Given the description of an element on the screen output the (x, y) to click on. 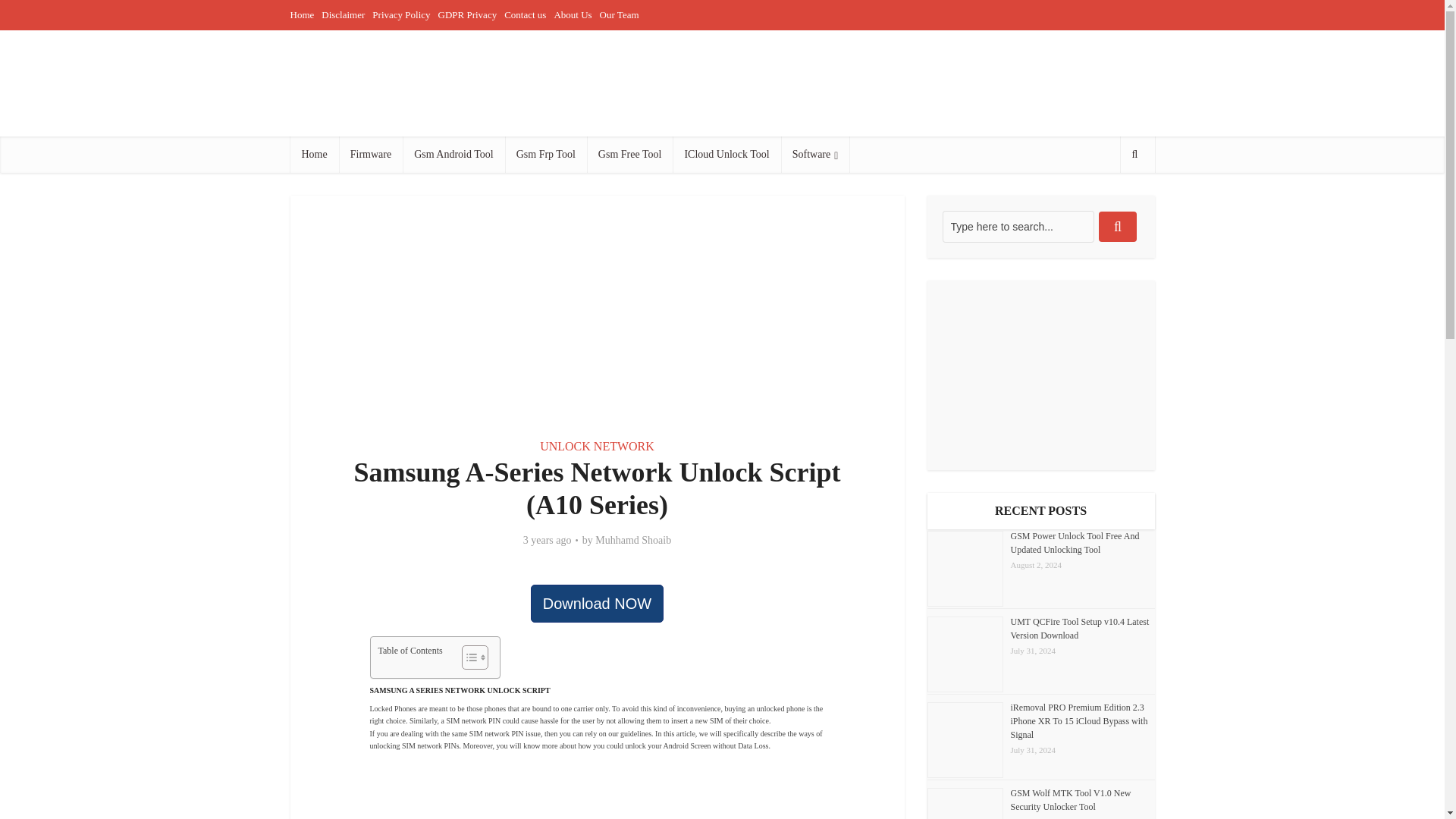
Disclaimer (343, 14)
Advertisement (596, 307)
Gsm Android Tool (454, 154)
ICloud Unlock Tool (726, 154)
Home (301, 14)
Firmware (371, 154)
Type here to search... (1017, 226)
Gsm Free Tool (629, 154)
Advertisement (878, 83)
Home (313, 154)
